Given the description of an element on the screen output the (x, y) to click on. 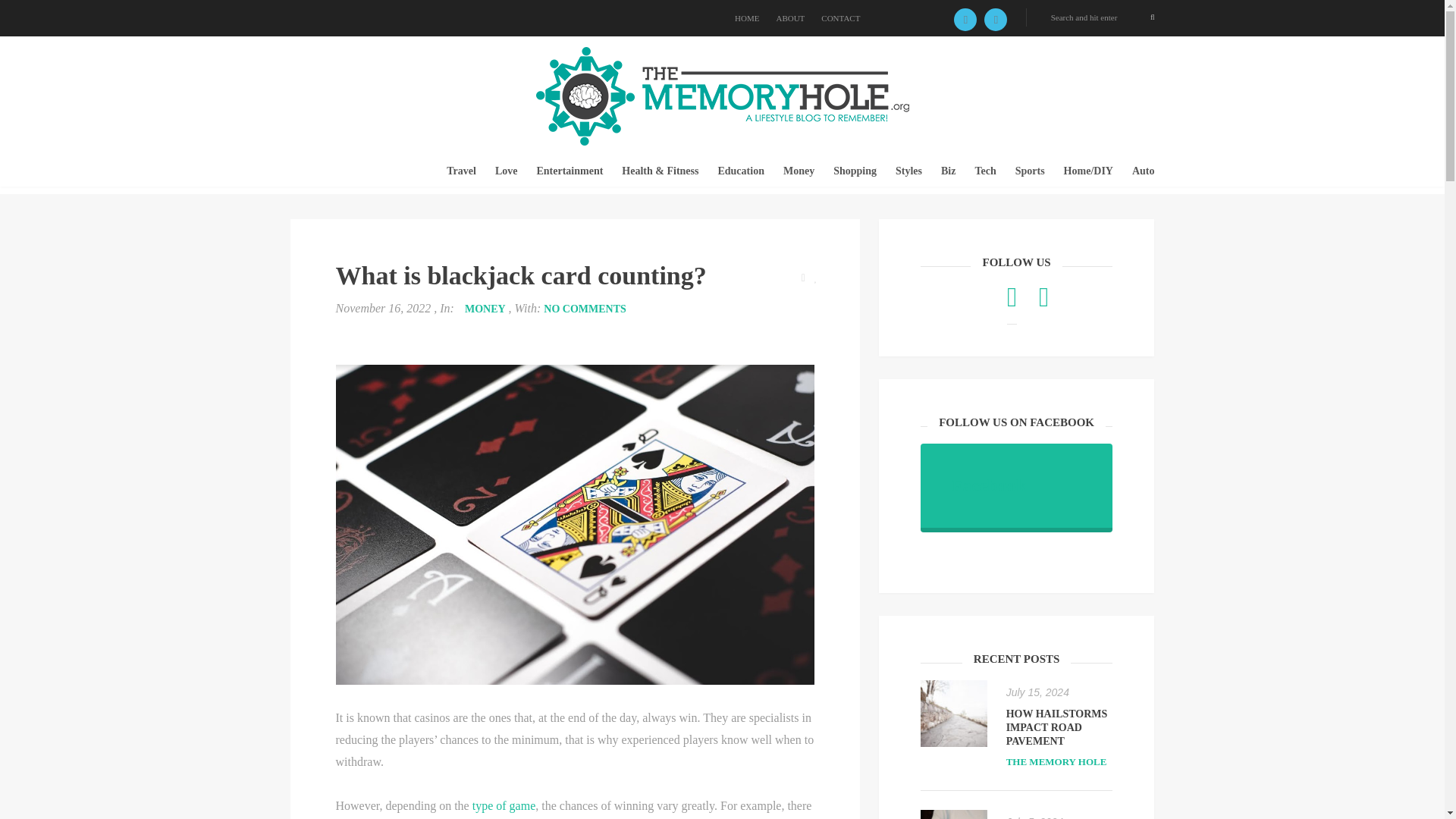
Styles (908, 170)
Auto (1143, 170)
Love (506, 170)
Tech (984, 170)
Shopping (854, 170)
Money (798, 170)
Sports (1029, 170)
Travel (461, 170)
CONTACT (840, 18)
Entertainment (568, 170)
